Given the description of an element on the screen output the (x, y) to click on. 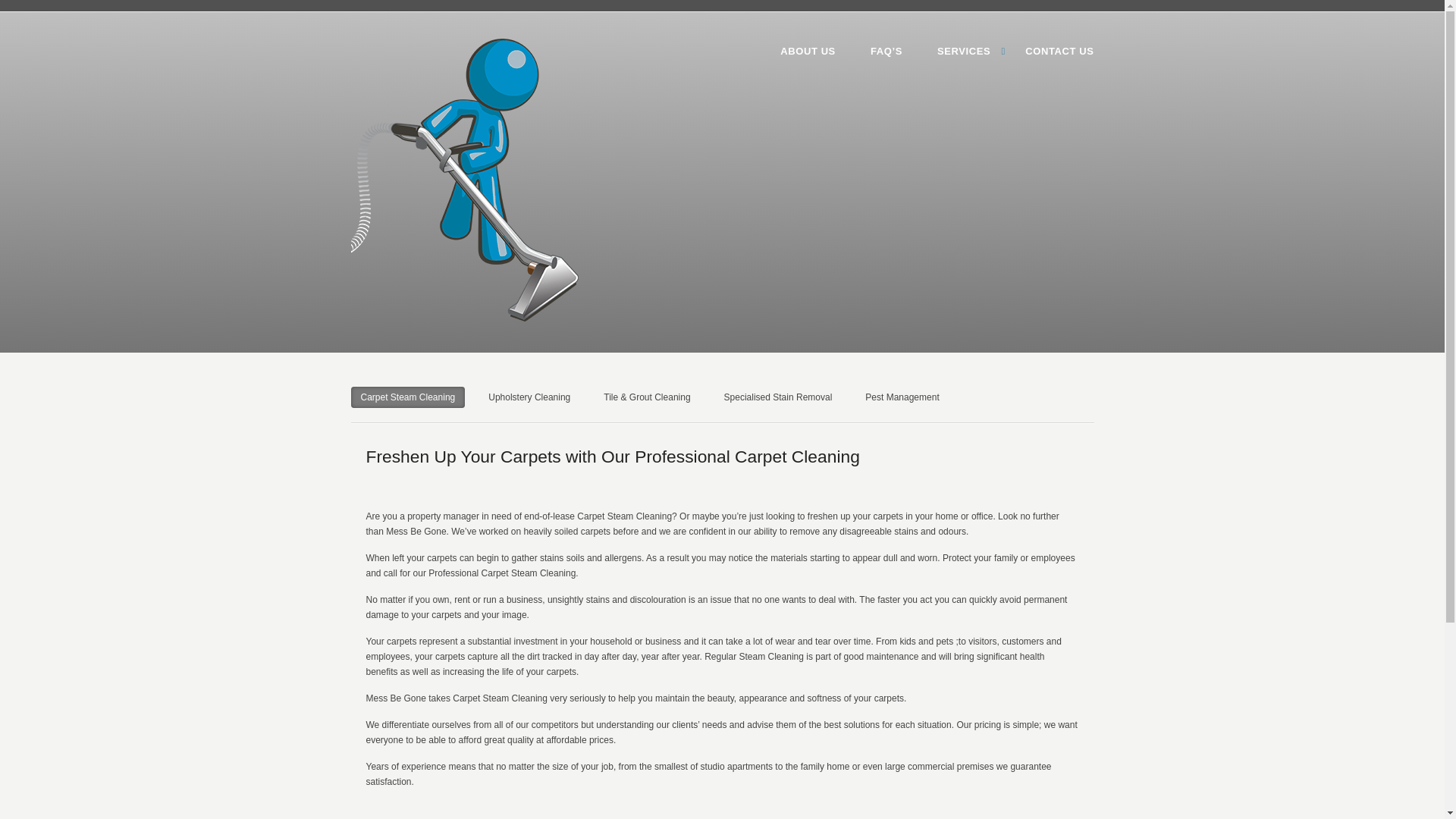
Pest Management (902, 396)
ABOUT US (807, 51)
SERVICES (963, 51)
CONTACT US (1059, 51)
Specialised Stain Removal (778, 396)
Upholstery Cleaning (529, 396)
Carpet Steam Cleaning (407, 396)
